Given the description of an element on the screen output the (x, y) to click on. 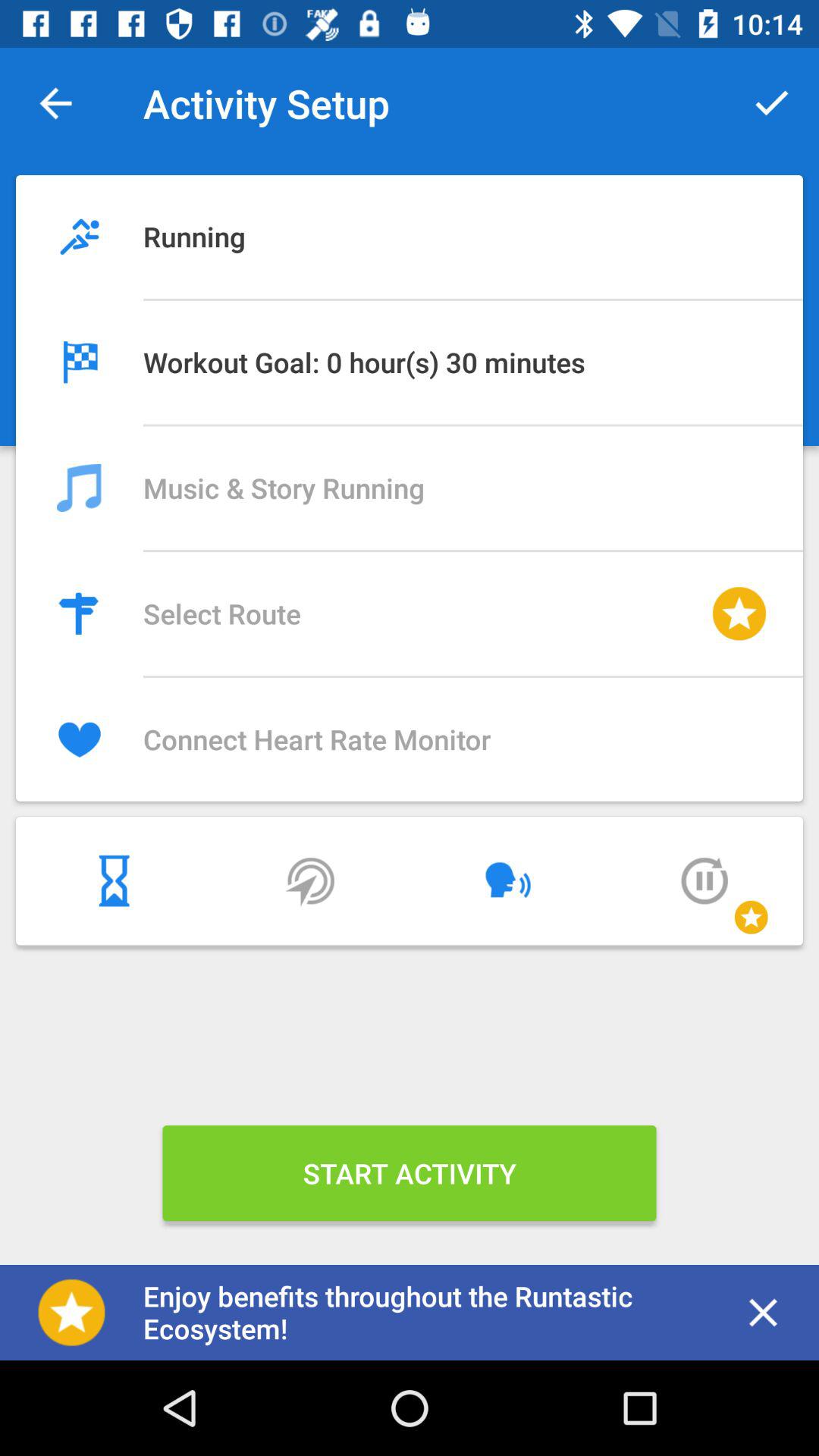
press the icon to the left of the activity setup (55, 103)
